Given the description of an element on the screen output the (x, y) to click on. 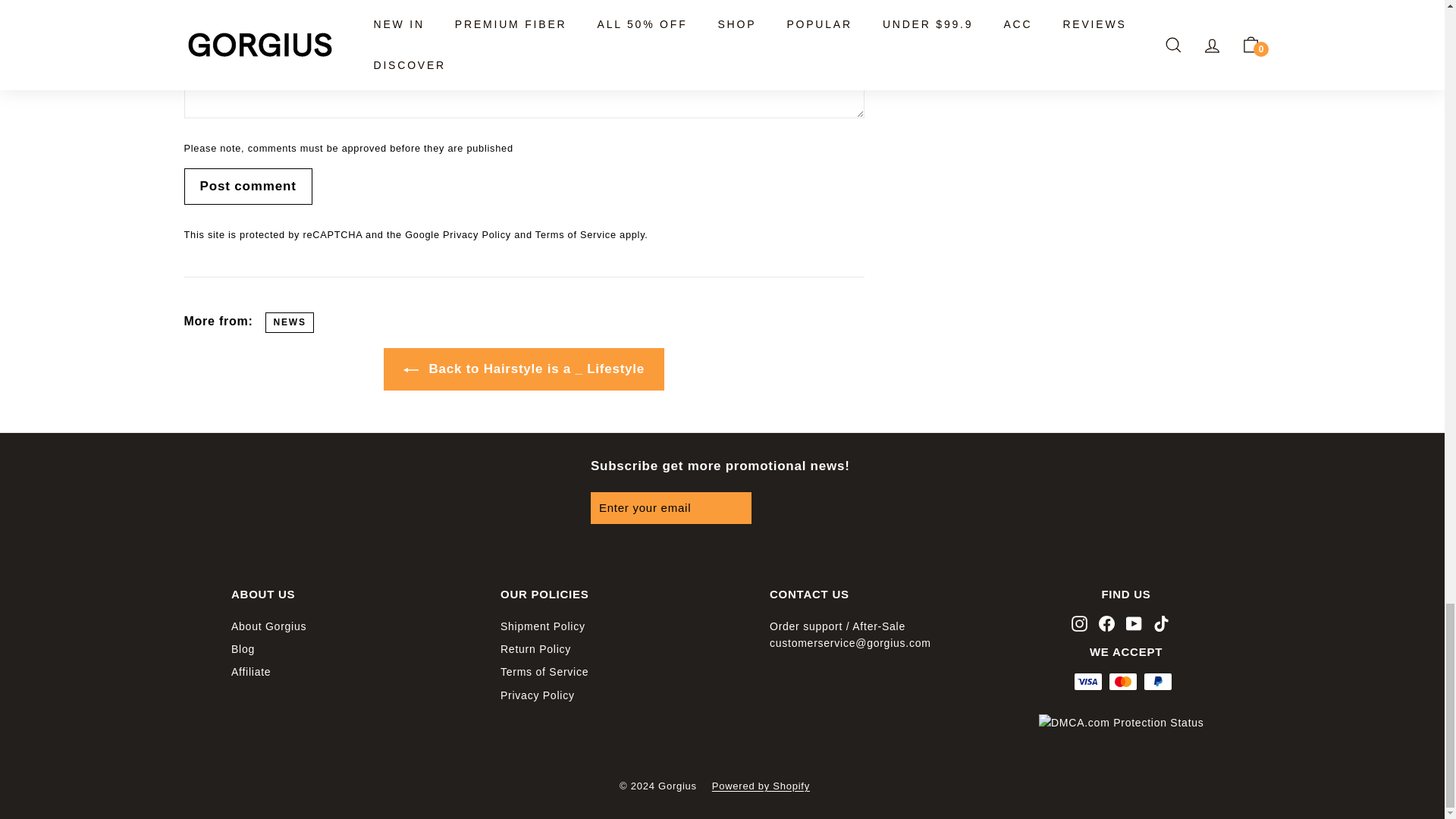
Mastercard (1122, 681)
Visa (1088, 681)
PayPal (1157, 681)
